Given the description of an element on the screen output the (x, y) to click on. 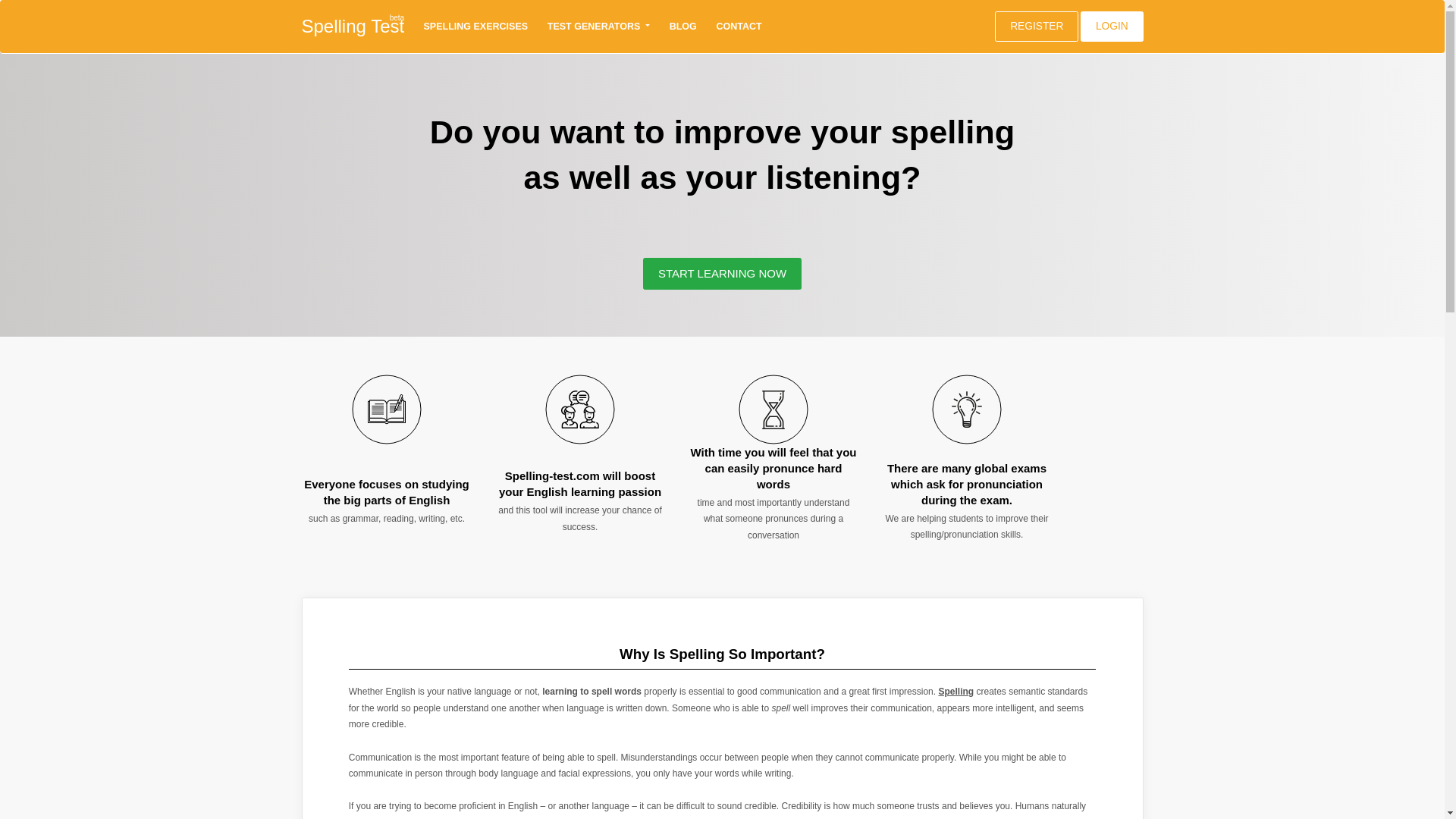
CONTACT Element type: text (738, 26)
TEST GENERATORS Element type: text (598, 26)
START LEARNING NOW Element type: text (722, 273)
REGISTER Element type: text (1036, 26)
beta
Spelling Test Element type: text (352, 26)
LOGIN Element type: text (1111, 26)
BLOG Element type: text (682, 26)
SPELLING EXERCISES Element type: text (475, 26)
